Given the description of an element on the screen output the (x, y) to click on. 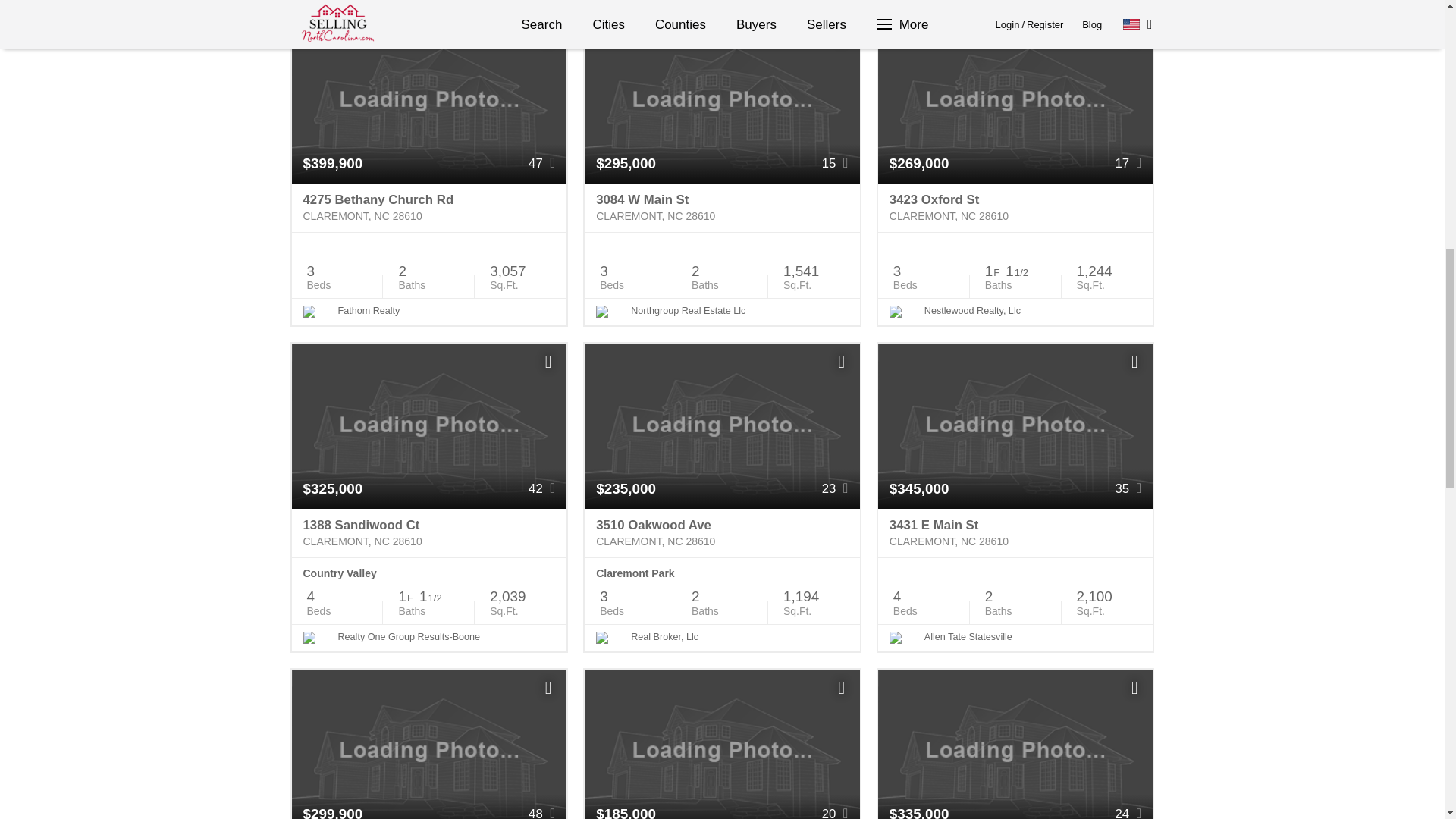
3423 Oxford St Claremont,  NC 28610 (1015, 207)
4275 Bethany Church Rd Claremont,  NC 28610 (428, 207)
3510 Oakwood Ave Claremont,  NC 28610 (722, 532)
1388 Sandiwood Ct Claremont,  NC 28610 (428, 532)
3084 W Main St Claremont,  NC 28610 (722, 207)
3431 E Main St Claremont,  NC 28610 (1015, 532)
